Given the description of an element on the screen output the (x, y) to click on. 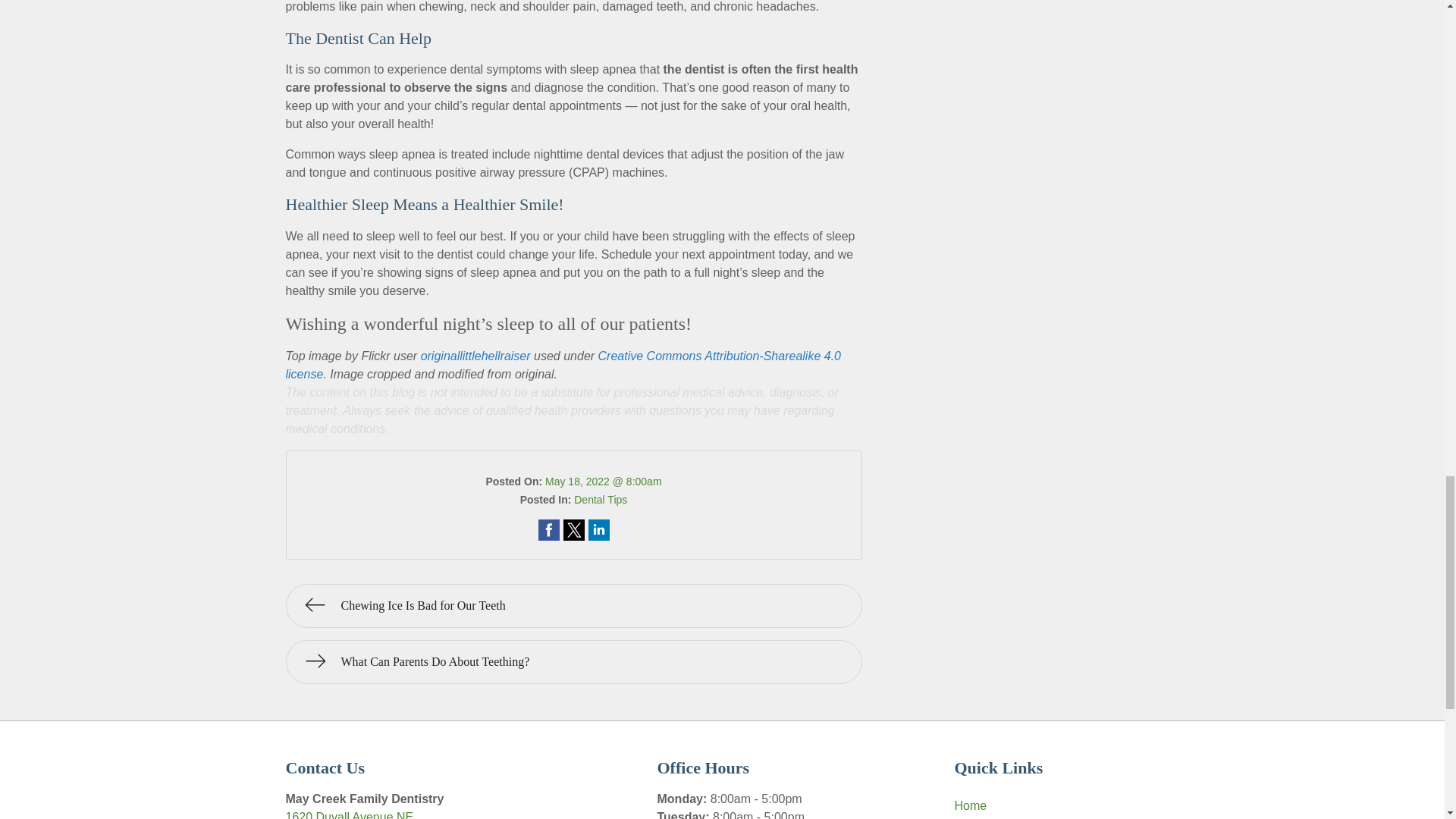
Dental Tips (600, 499)
Chewing Ice Is Bad for Our Teeth (573, 605)
Open this address in Google Maps (349, 814)
Share on Facebook (548, 529)
Share on LinkedIn (599, 529)
Share on Twitter (572, 529)
Creative Commons Attribution-Sharealike 4.0 license (349, 814)
What Can Parents Do About Teething? (562, 364)
Share on LinkedIn (573, 661)
Share on Twitter (599, 529)
Share on Facebook (572, 529)
originallittlehellraiser (548, 529)
